Given the description of an element on the screen output the (x, y) to click on. 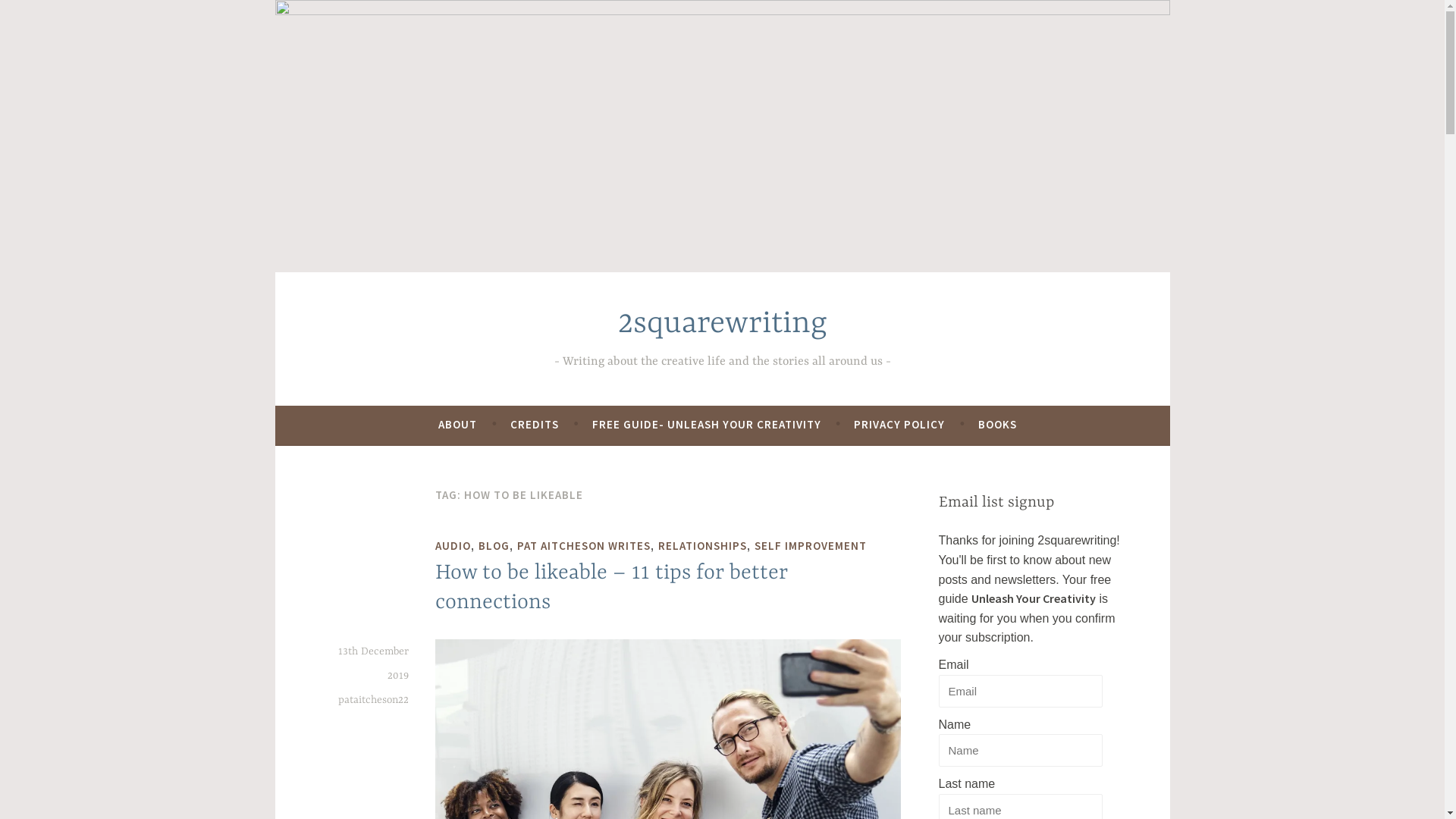
SELF IMPROVEMENT Element type: text (810, 545)
2squarewriting Element type: text (721, 324)
FREE GUIDE- UNLEASH YOUR CREATIVITY Element type: text (706, 424)
PRIVACY POLICY Element type: text (898, 424)
BLOG Element type: text (493, 545)
PAT AITCHESON WRITES Element type: text (583, 545)
AUDIO Element type: text (452, 545)
pataitcheson22 Element type: text (373, 699)
BOOKS Element type: text (997, 424)
ABOUT Element type: text (457, 424)
RELATIONSHIPS Element type: text (702, 545)
Search Element type: text (33, 15)
CREDITS Element type: text (534, 424)
13th December 2019 Element type: text (373, 663)
